Given the description of an element on the screen output the (x, y) to click on. 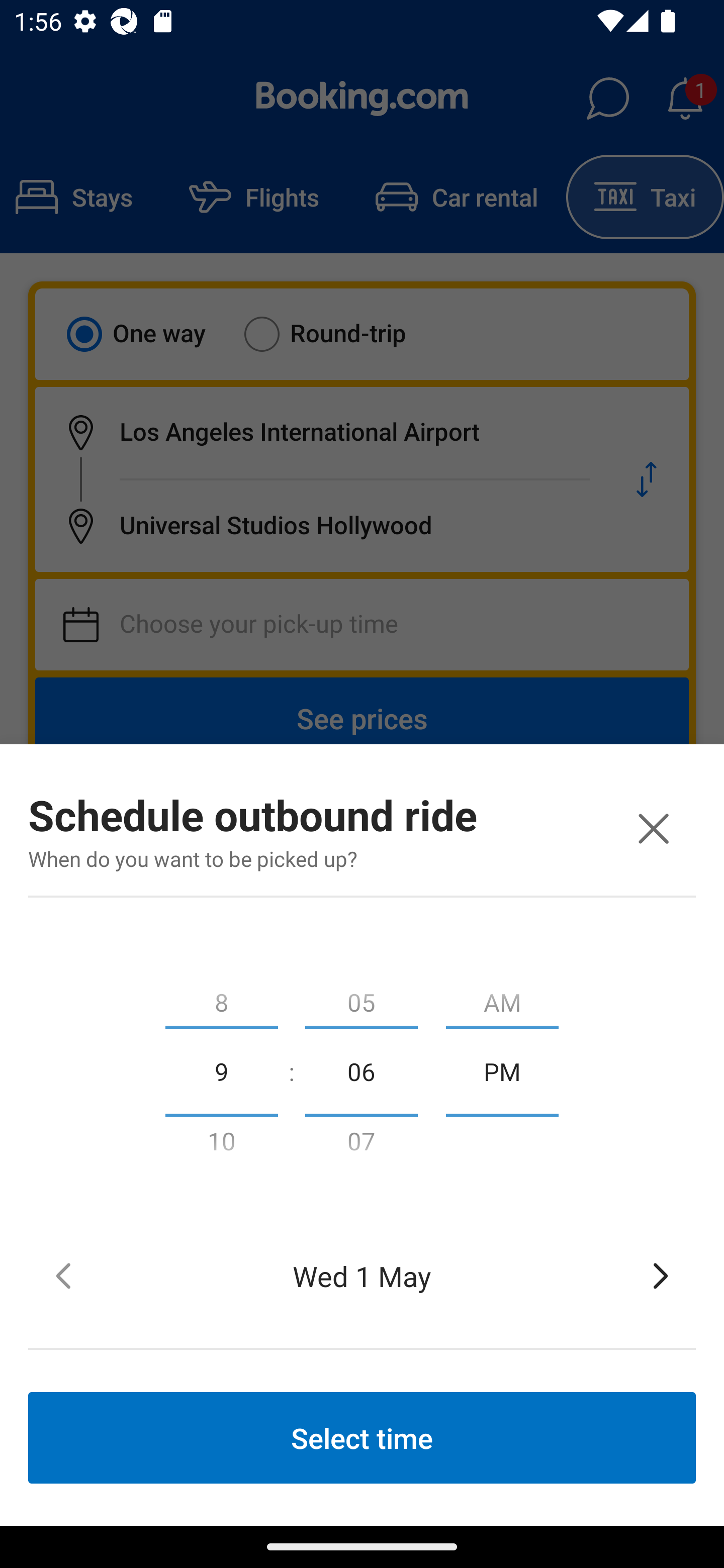
Close window (653, 828)
8 (221, 997)
05 (361, 997)
AM (501, 997)
9 (221, 1070)
06 (361, 1070)
PM (501, 1070)
10 (221, 1144)
07 (361, 1144)
Tap to move back to the previous date (63, 1275)
Tap to move forward to the next date (660, 1275)
Wed 1 May Selected date, Wednesday, 1 May (361, 1275)
Select time (361, 1437)
